Given the description of an element on the screen output the (x, y) to click on. 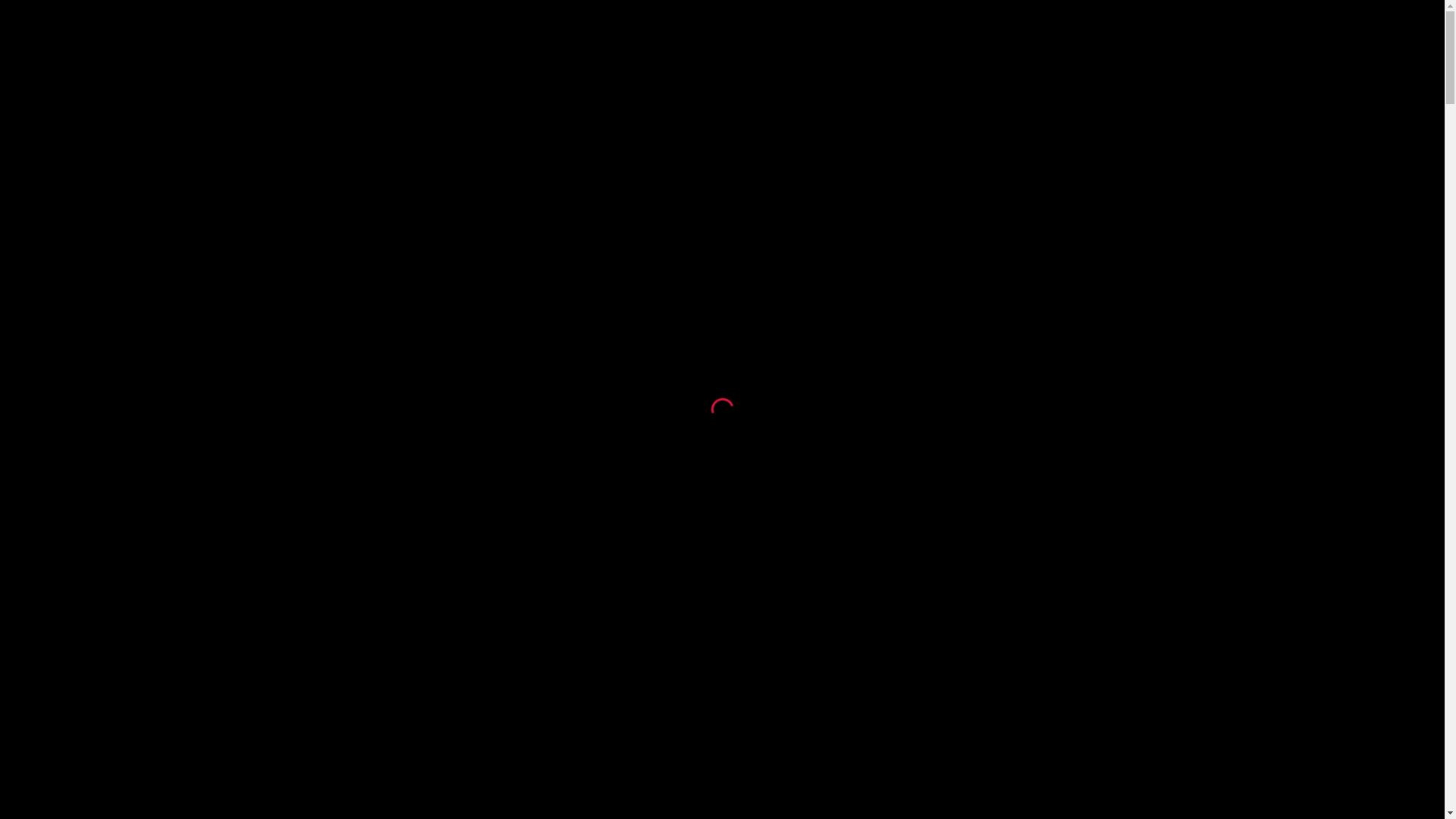
loading Element type: hover (718, 405)
